Given the description of an element on the screen output the (x, y) to click on. 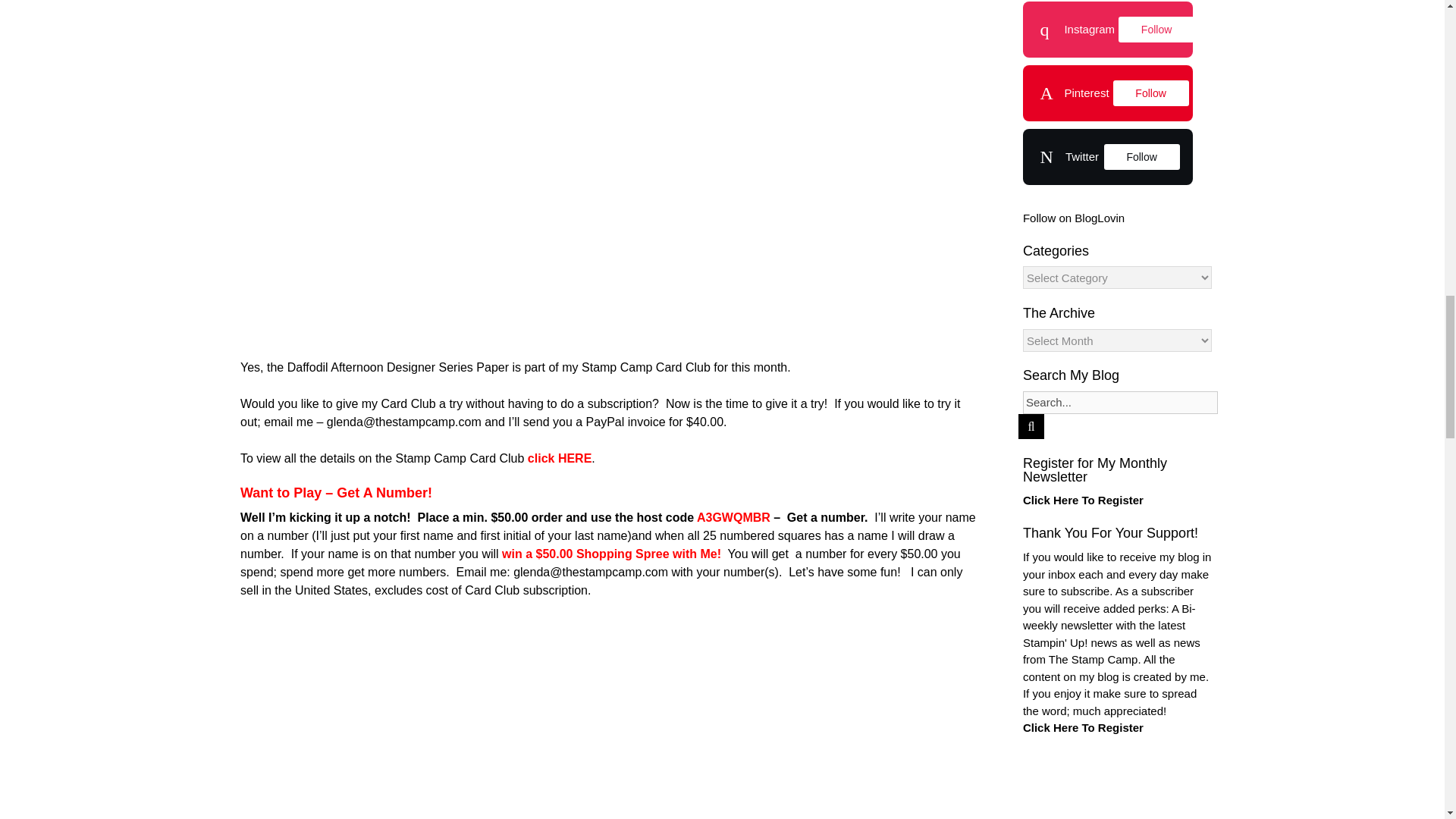
click HERE (559, 458)
Search for: (1120, 402)
